Given the description of an element on the screen output the (x, y) to click on. 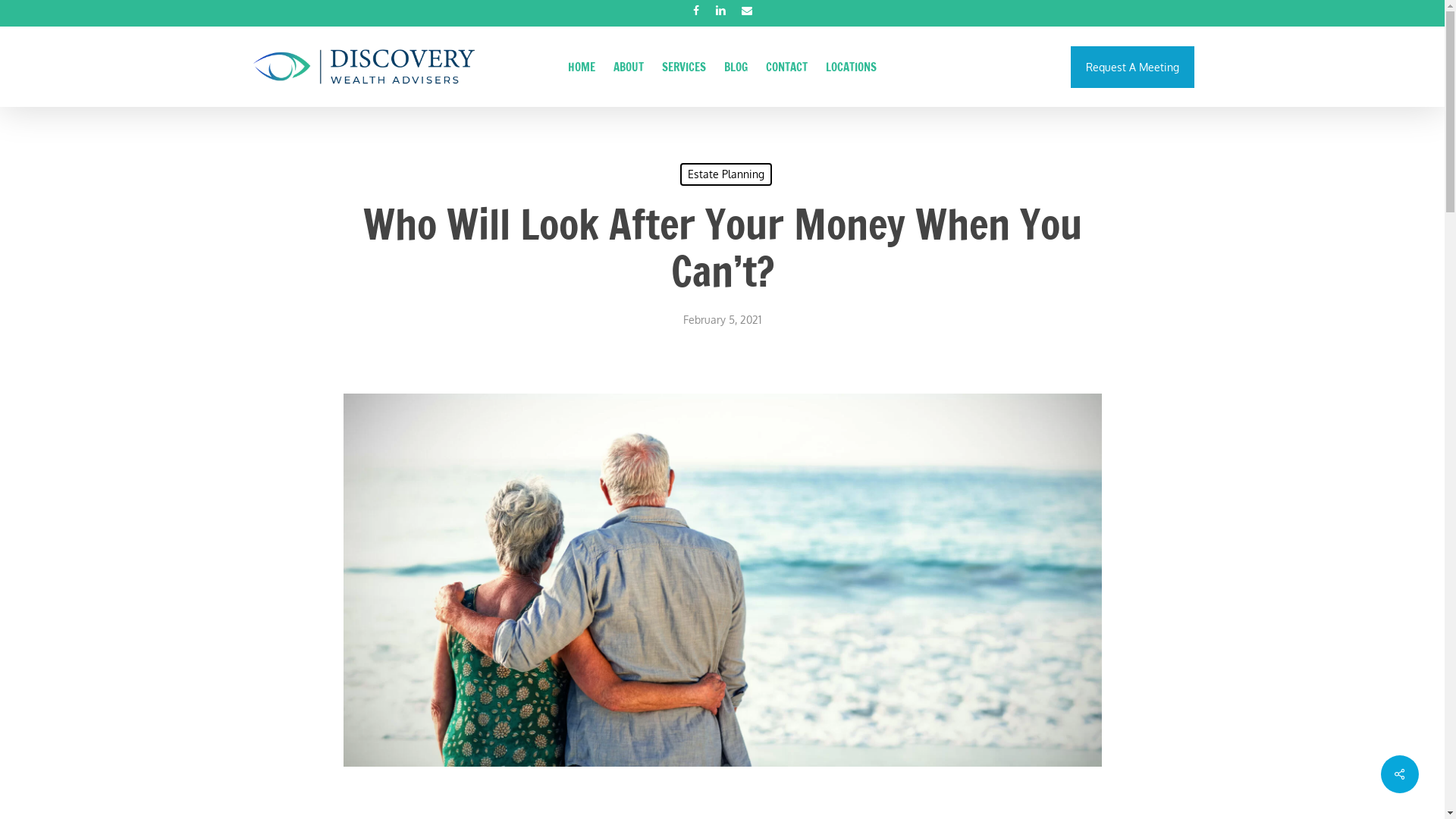
SERVICES Element type: text (683, 66)
ABOUT Element type: text (628, 66)
HOME Element type: text (581, 66)
facebook Element type: text (695, 12)
Estate Planning Element type: text (725, 174)
CONTACT Element type: text (786, 66)
Request A Meeting Element type: text (1132, 66)
linkedin Element type: text (719, 12)
BLOG Element type: text (735, 66)
email Element type: text (745, 12)
LOCATIONS Element type: text (850, 66)
